Given the description of an element on the screen output the (x, y) to click on. 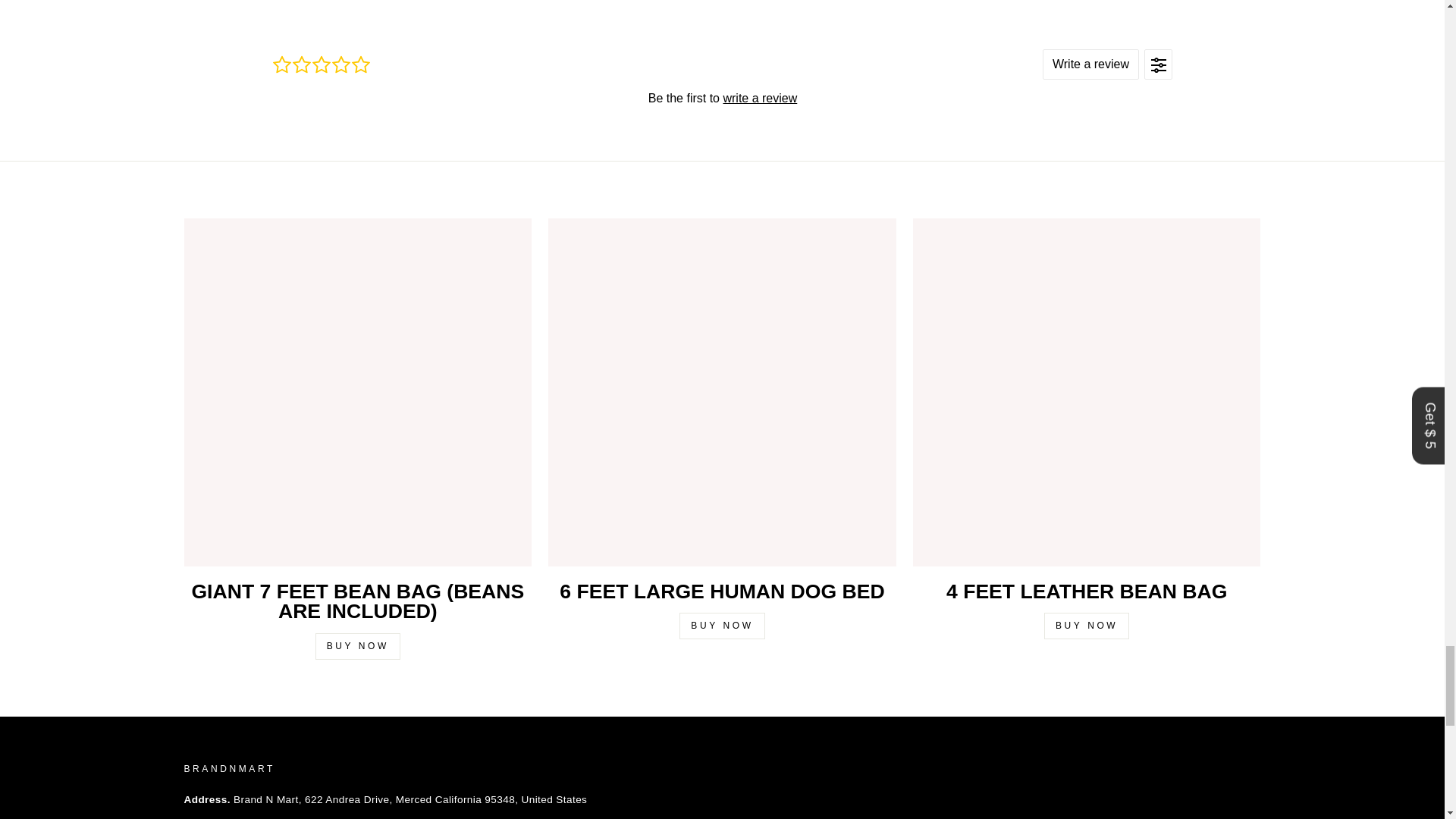
Product reviews widget (721, 97)
